Given the description of an element on the screen output the (x, y) to click on. 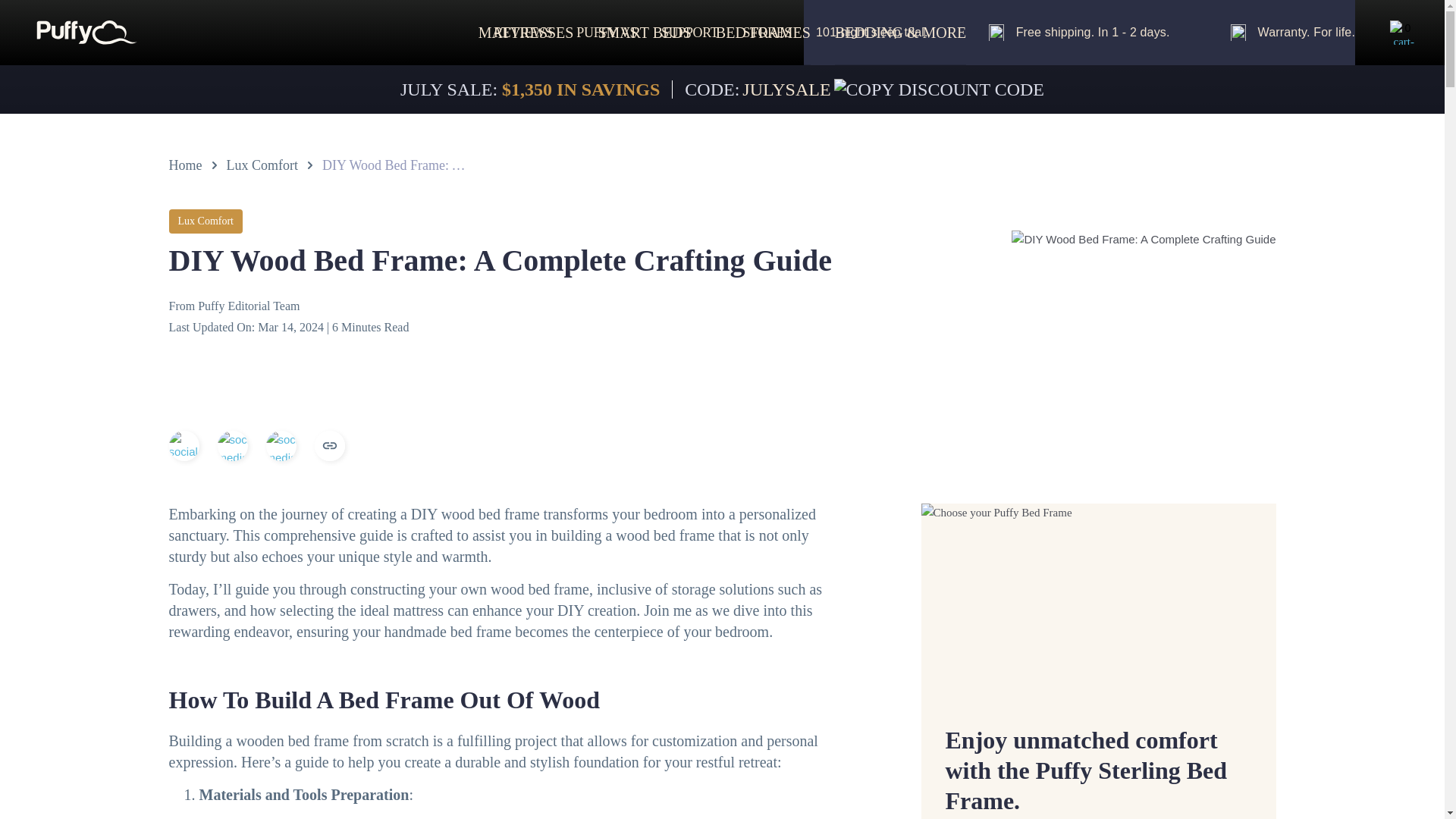
MATTRESSES (526, 32)
0 (1384, 32)
BED FRAMES (763, 32)
SMART BEDS (643, 32)
